Given the description of an element on the screen output the (x, y) to click on. 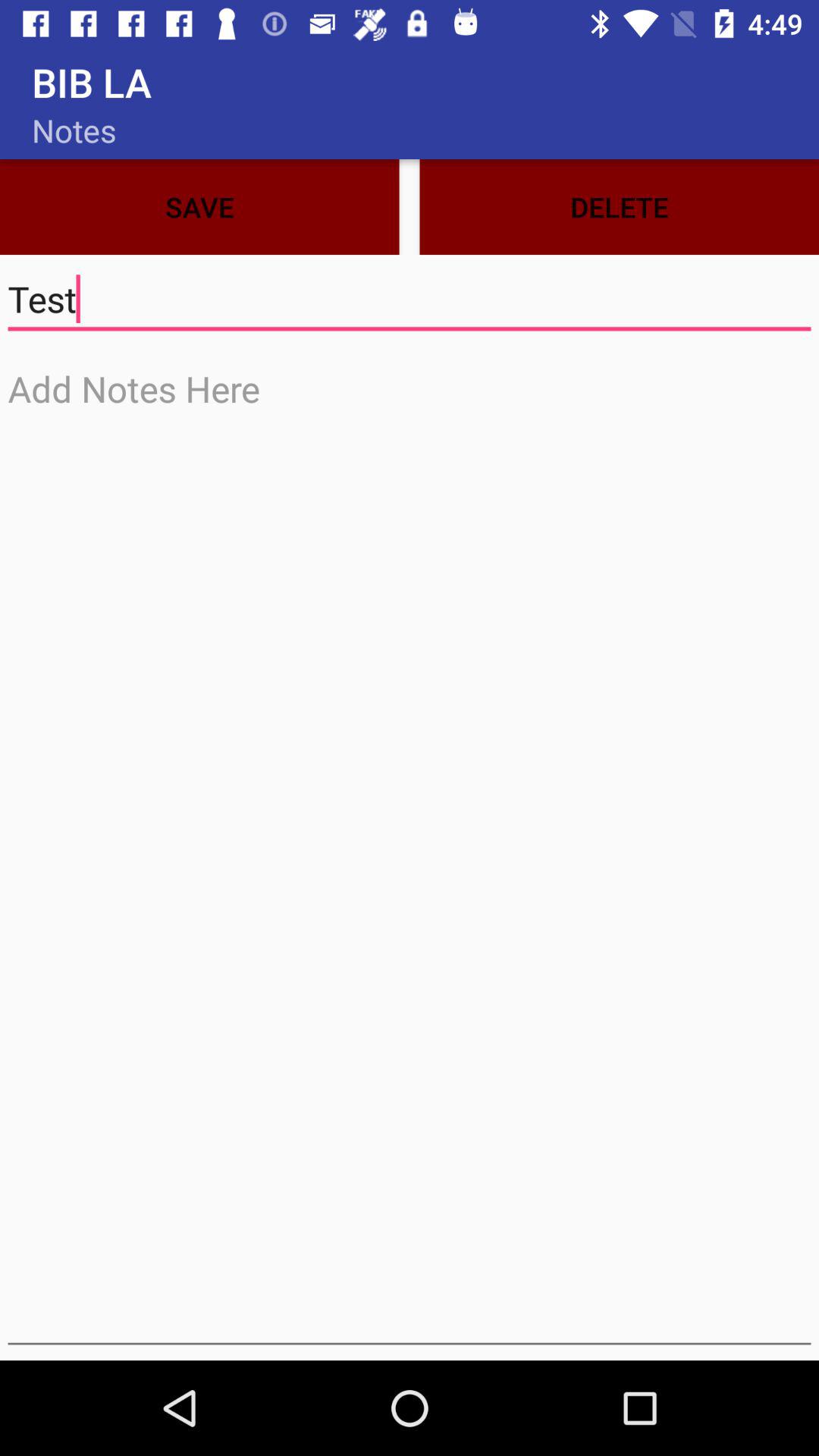
turn on the delete at the top right corner (619, 206)
